Given the description of an element on the screen output the (x, y) to click on. 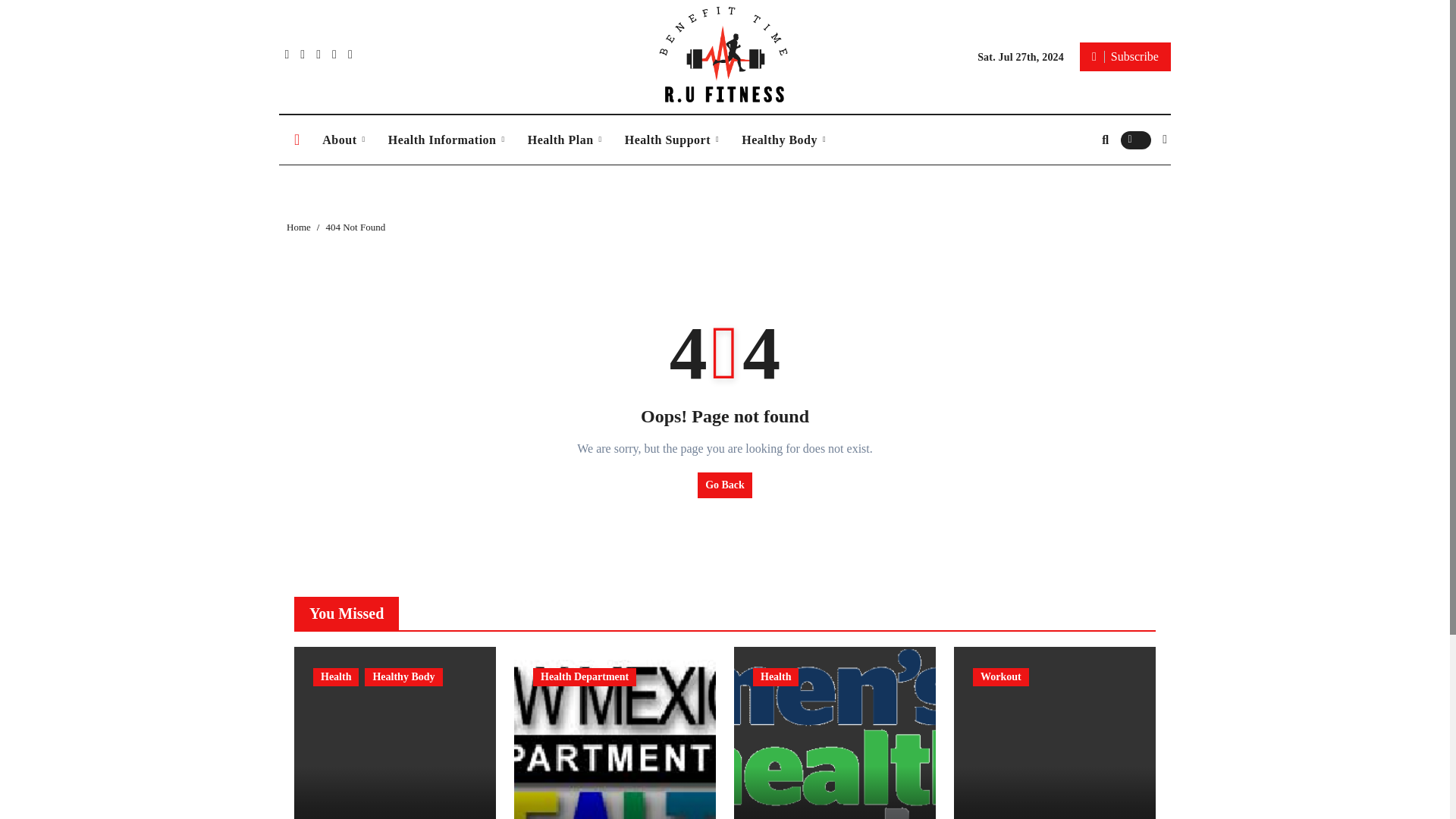
About (343, 139)
About (343, 139)
Subscribe (1125, 56)
Health Plan (564, 139)
Health Information (446, 139)
Health Support (671, 139)
Health Information (446, 139)
Health Plan (564, 139)
